Given the description of an element on the screen output the (x, y) to click on. 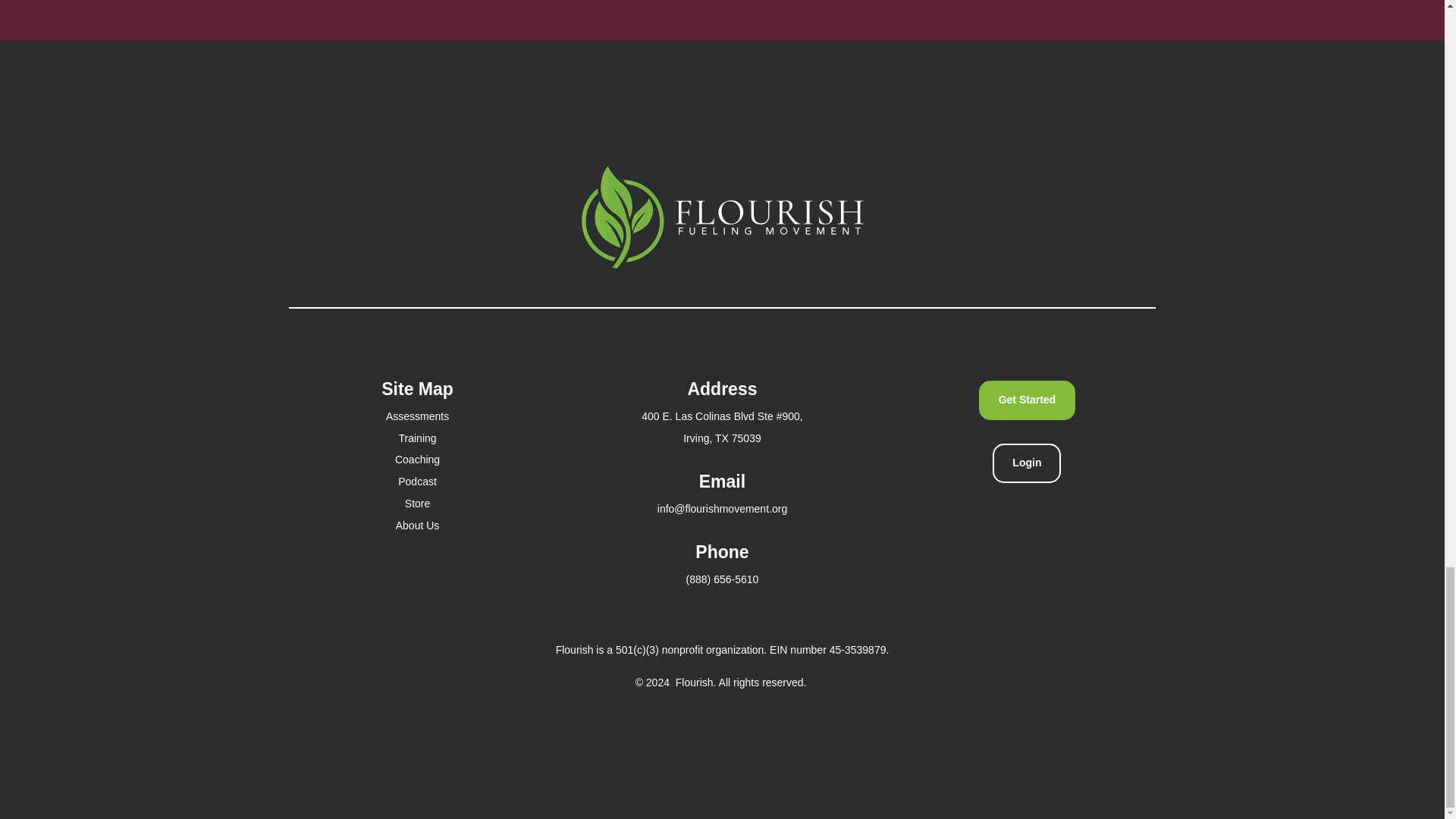
Assessments (416, 416)
Get Started (1026, 400)
Coaching (416, 459)
Login (1026, 463)
Flourish Logo whie (721, 217)
Store (416, 503)
Podcast (416, 481)
Training (417, 438)
About Us (417, 525)
